Given the description of an element on the screen output the (x, y) to click on. 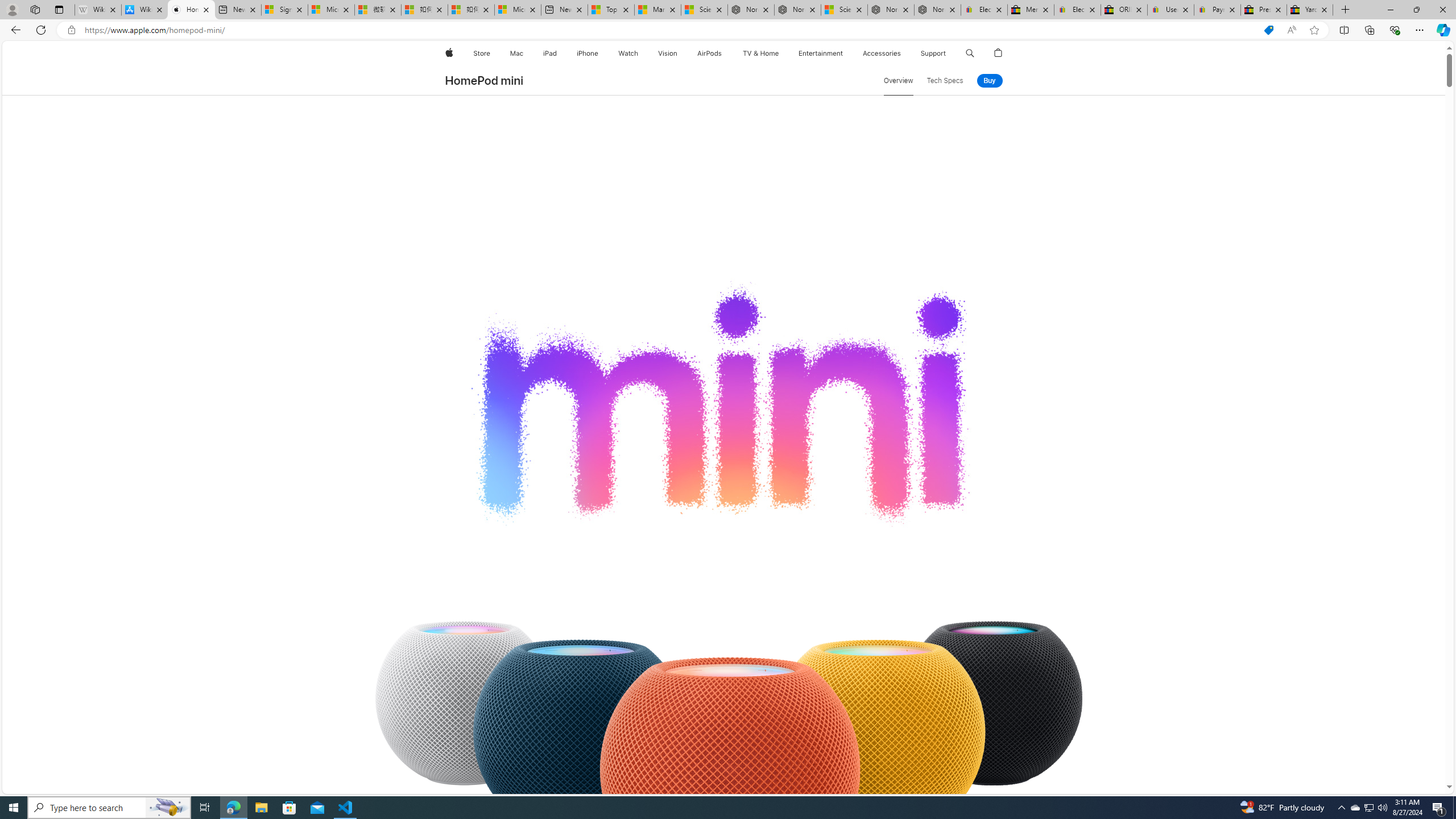
HomePod mini (484, 80)
iPad (550, 53)
Store menu (492, 53)
Yard, Garden & Outdoor Living (1309, 9)
Electronics, Cars, Fashion, Collectibles & More | eBay (1077, 9)
TV and Home (759, 53)
AirPods (709, 53)
Tech Specs (944, 80)
User Privacy Notice | eBay (1170, 9)
